Given the description of an element on the screen output the (x, y) to click on. 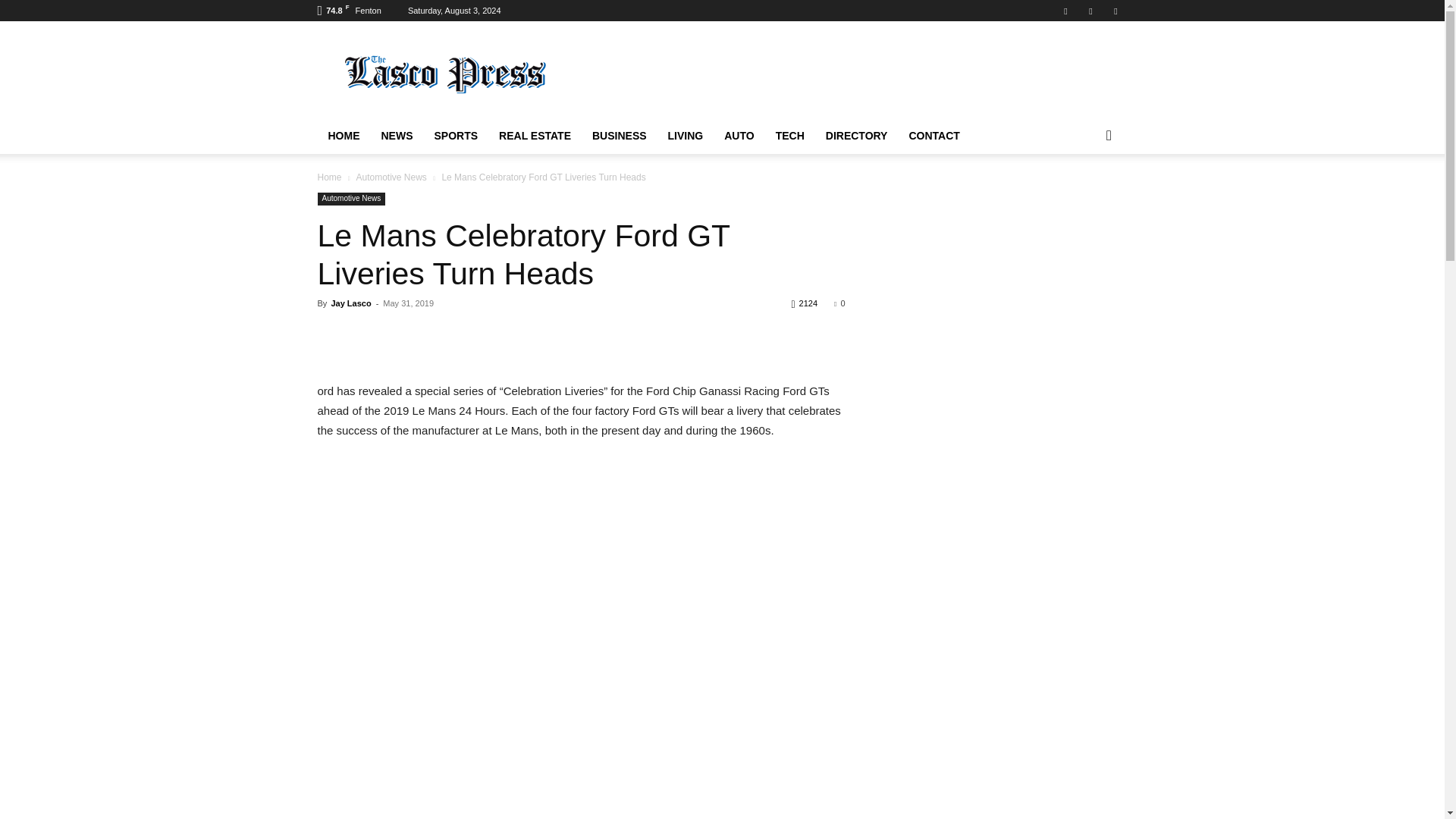
Facebook (1065, 10)
Youtube (1114, 10)
Twitter (1090, 10)
View all posts in Automotive News (390, 176)
